Given the description of an element on the screen output the (x, y) to click on. 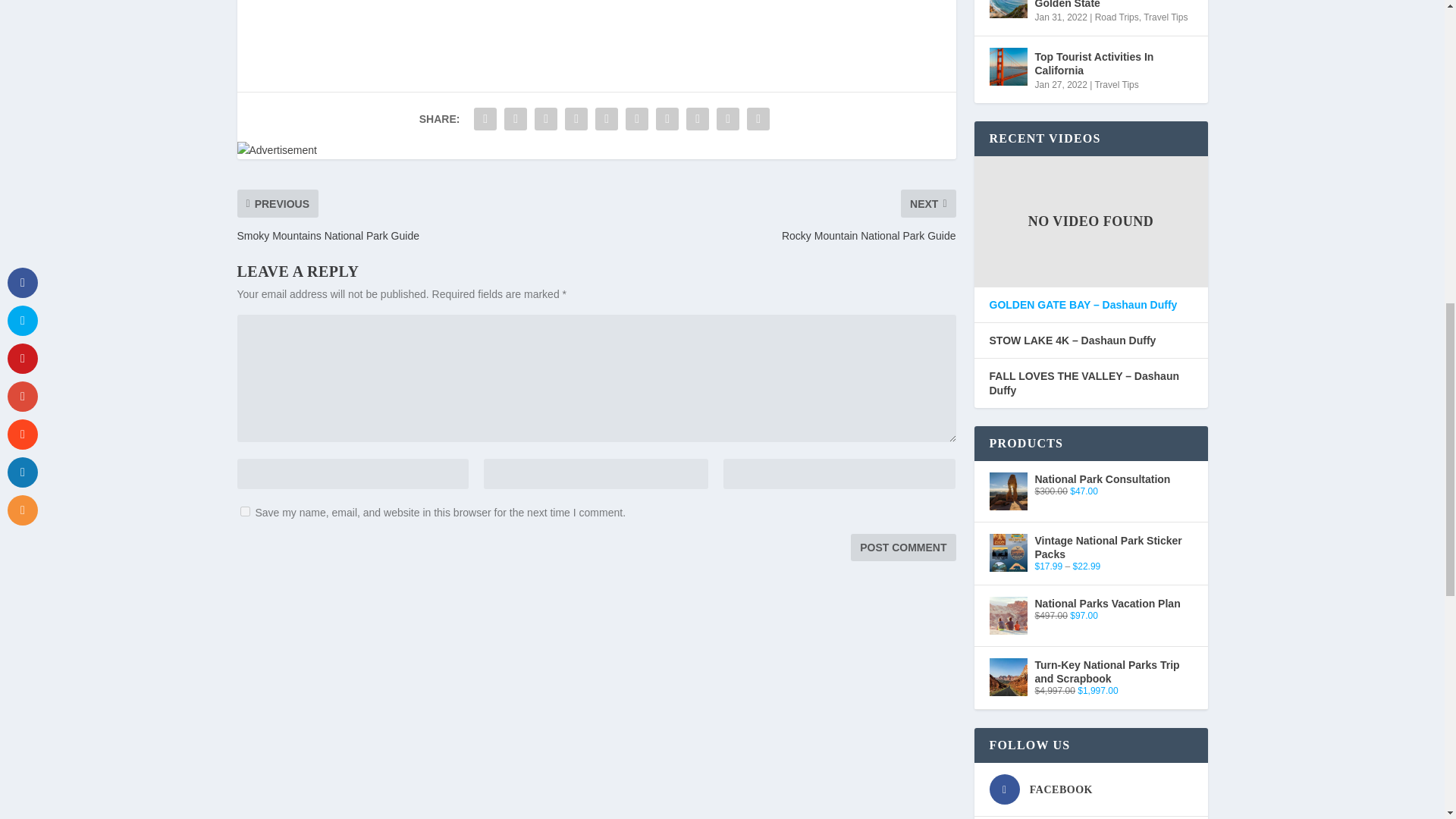
Share "Zion National Park Guide" via Facebook (485, 119)
Post Comment (902, 547)
Share "Zion National Park Guide" via Twitter (515, 119)
Share "Zion National Park Guide" via Pinterest (606, 119)
Share "Zion National Park Guide" via Tumblr (575, 119)
Share "Zion National Park Guide" via LinkedIn (636, 119)
yes (244, 511)
